Given the description of an element on the screen output the (x, y) to click on. 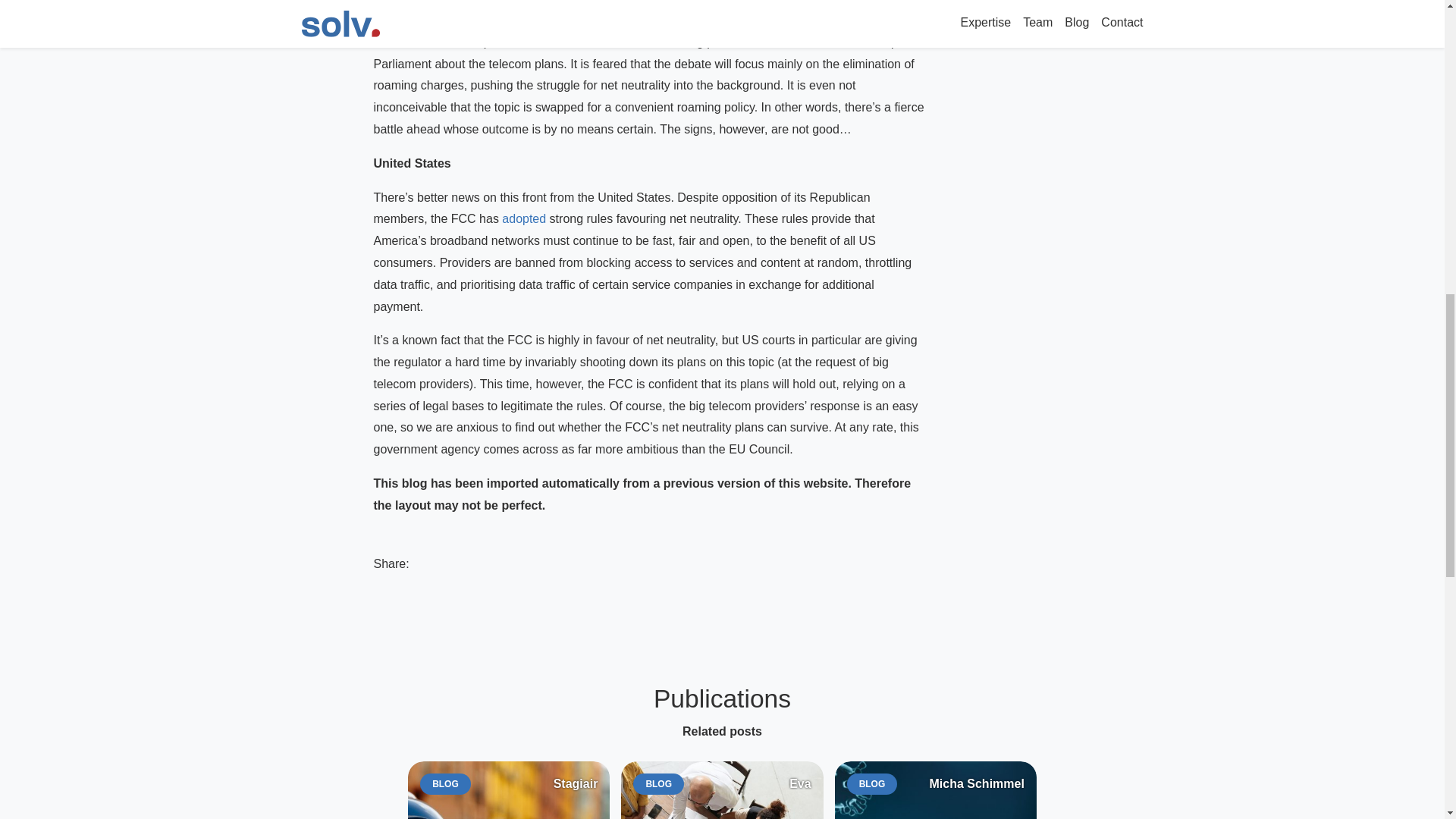
adopted (935, 790)
